Given the description of an element on the screen output the (x, y) to click on. 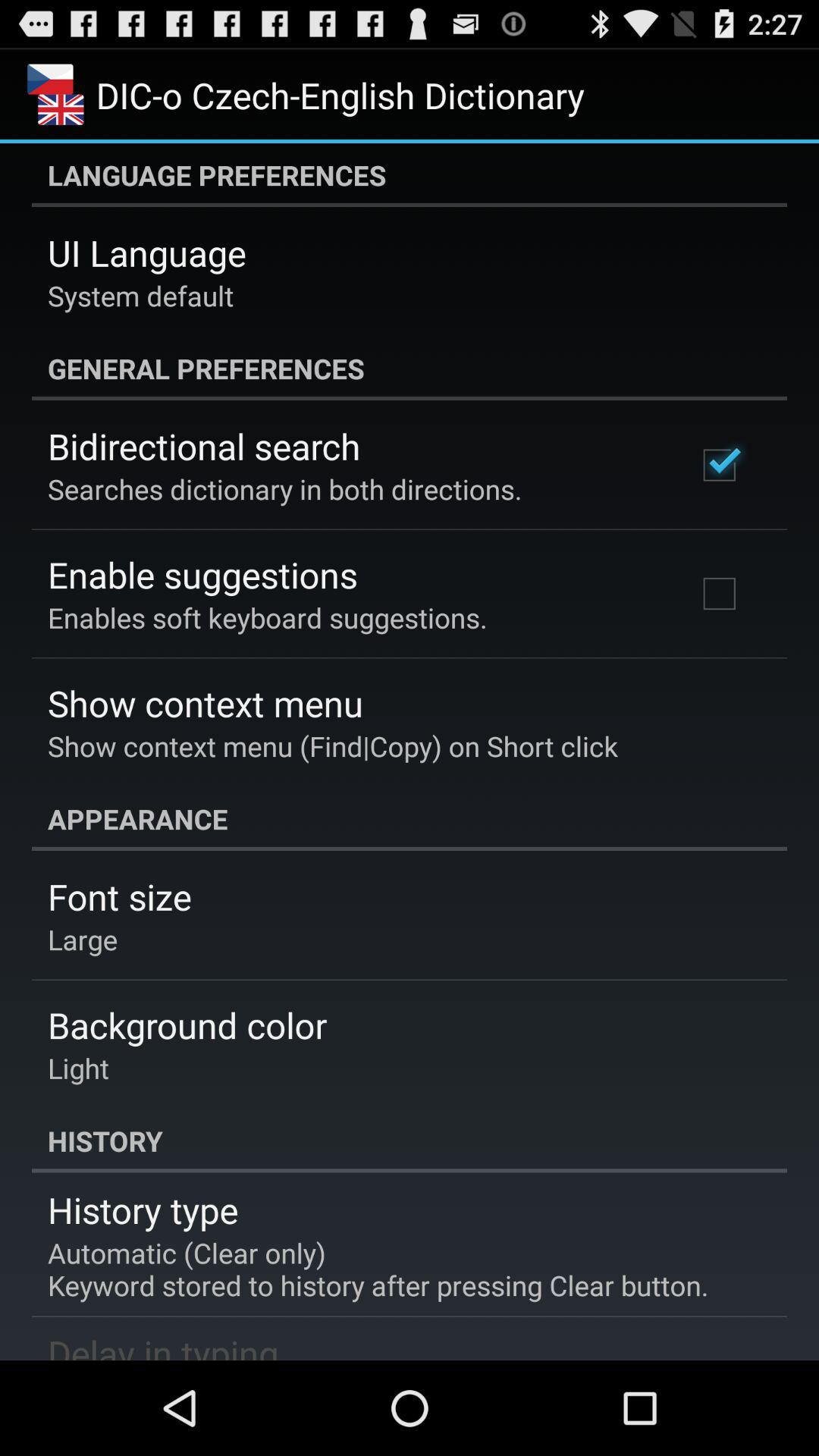
scroll to the appearance icon (409, 818)
